Given the description of an element on the screen output the (x, y) to click on. 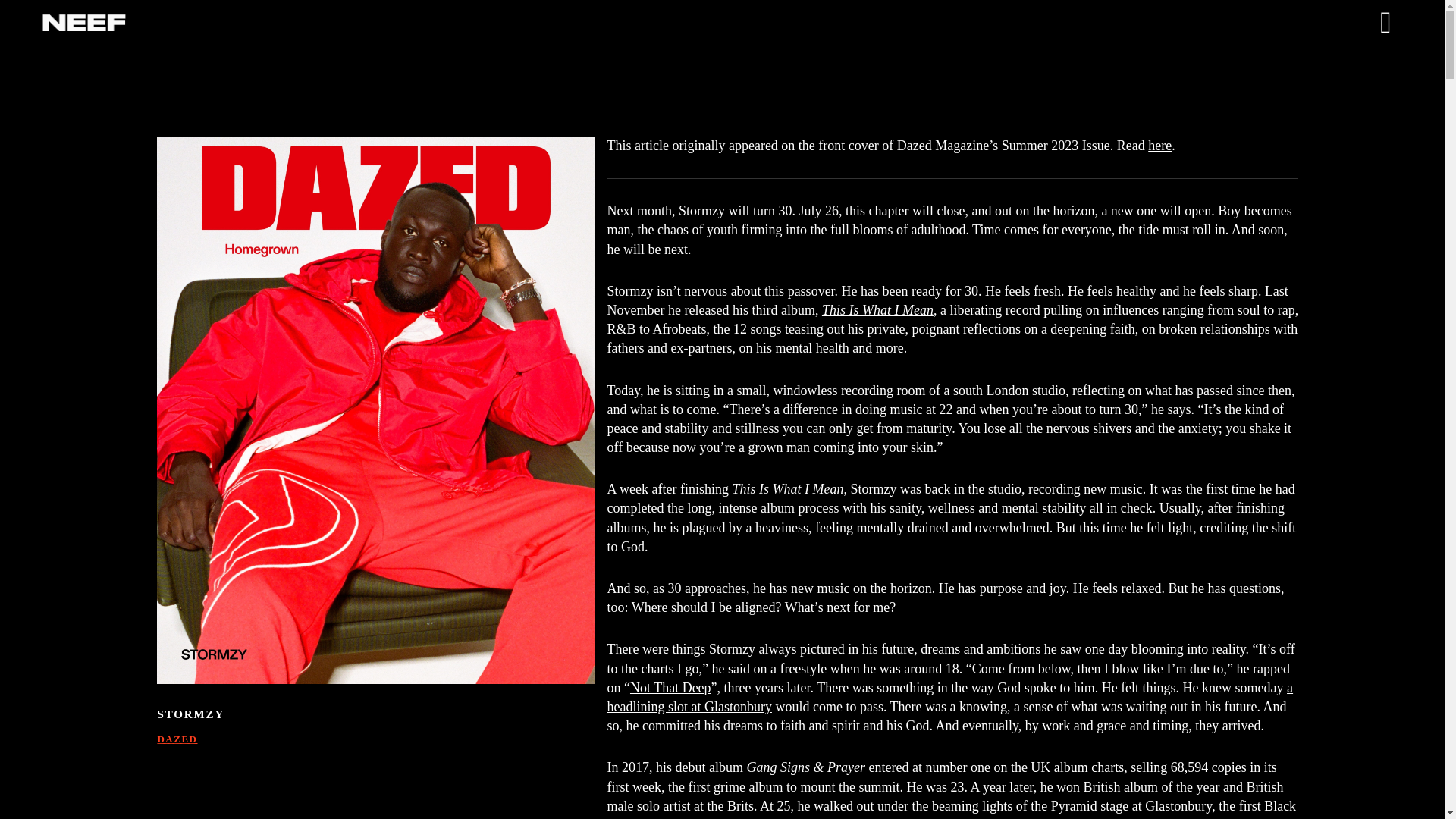
Not That Deep (670, 687)
here (1160, 145)
a headlining slot at Glastonbury (949, 697)
This Is What I Mean (877, 309)
DAZED (176, 738)
